Given the description of an element on the screen output the (x, y) to click on. 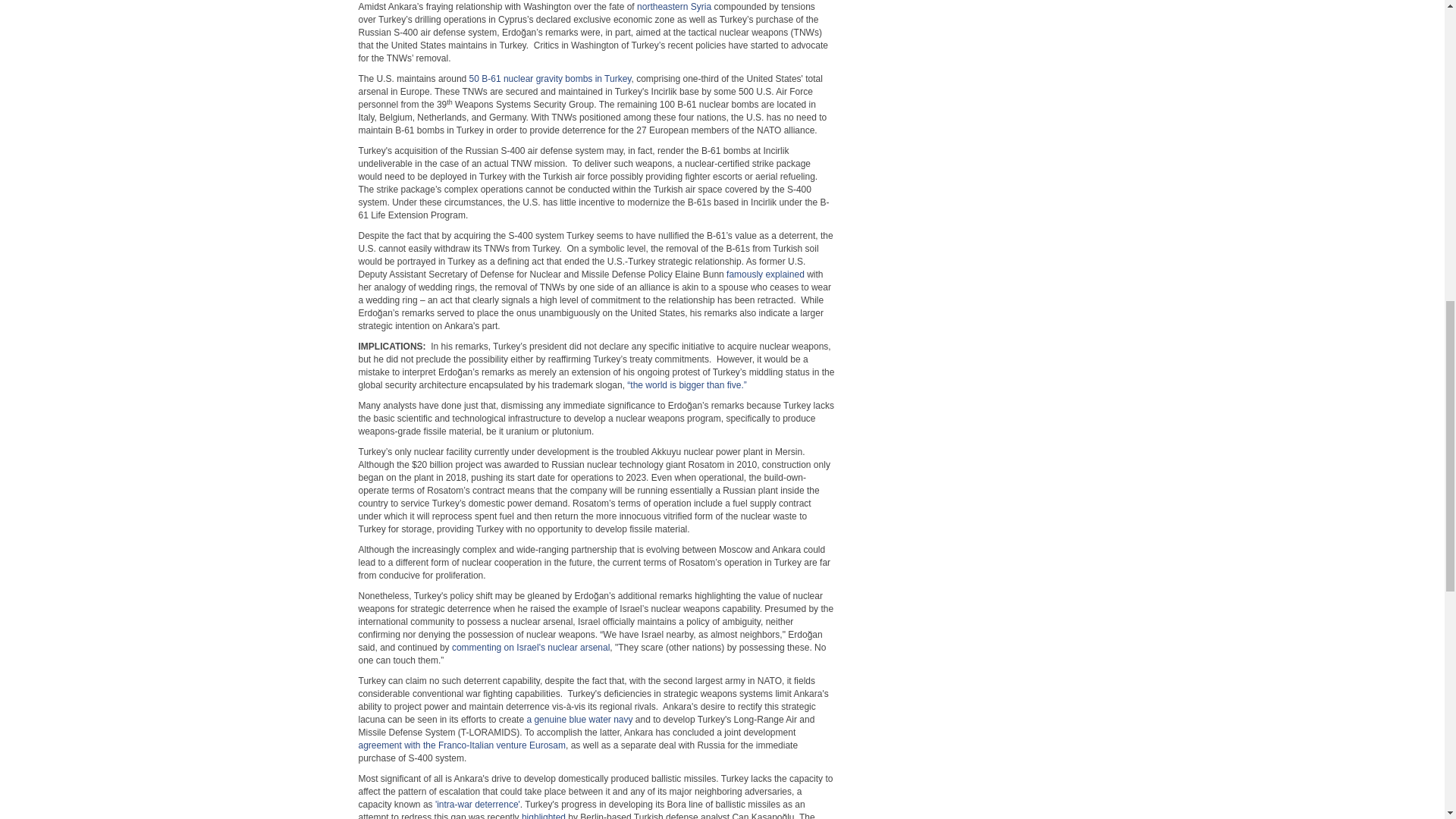
50 B-61 nuclear gravity bombs in Turkey (549, 78)
highlighted (543, 815)
famously explained (765, 274)
'intra-war deterrence' (477, 804)
northeastern Syria (674, 6)
a genuine blue water navy (578, 719)
agreement with the Franco-Italian venture Eurosam (461, 745)
commenting on Israel's nuclear arsenal (530, 647)
